Given the description of an element on the screen output the (x, y) to click on. 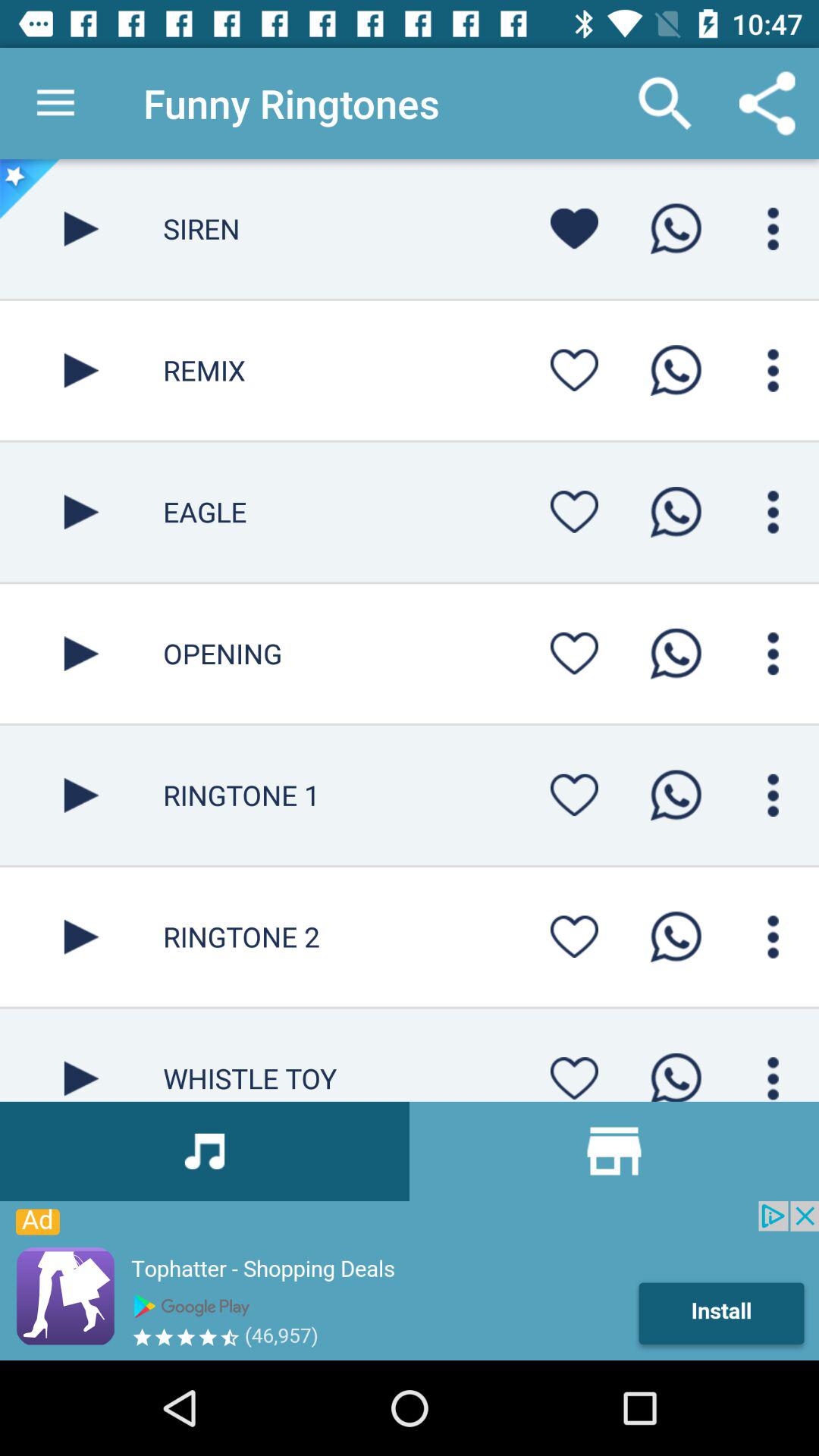
more options (773, 228)
